Given the description of an element on the screen output the (x, y) to click on. 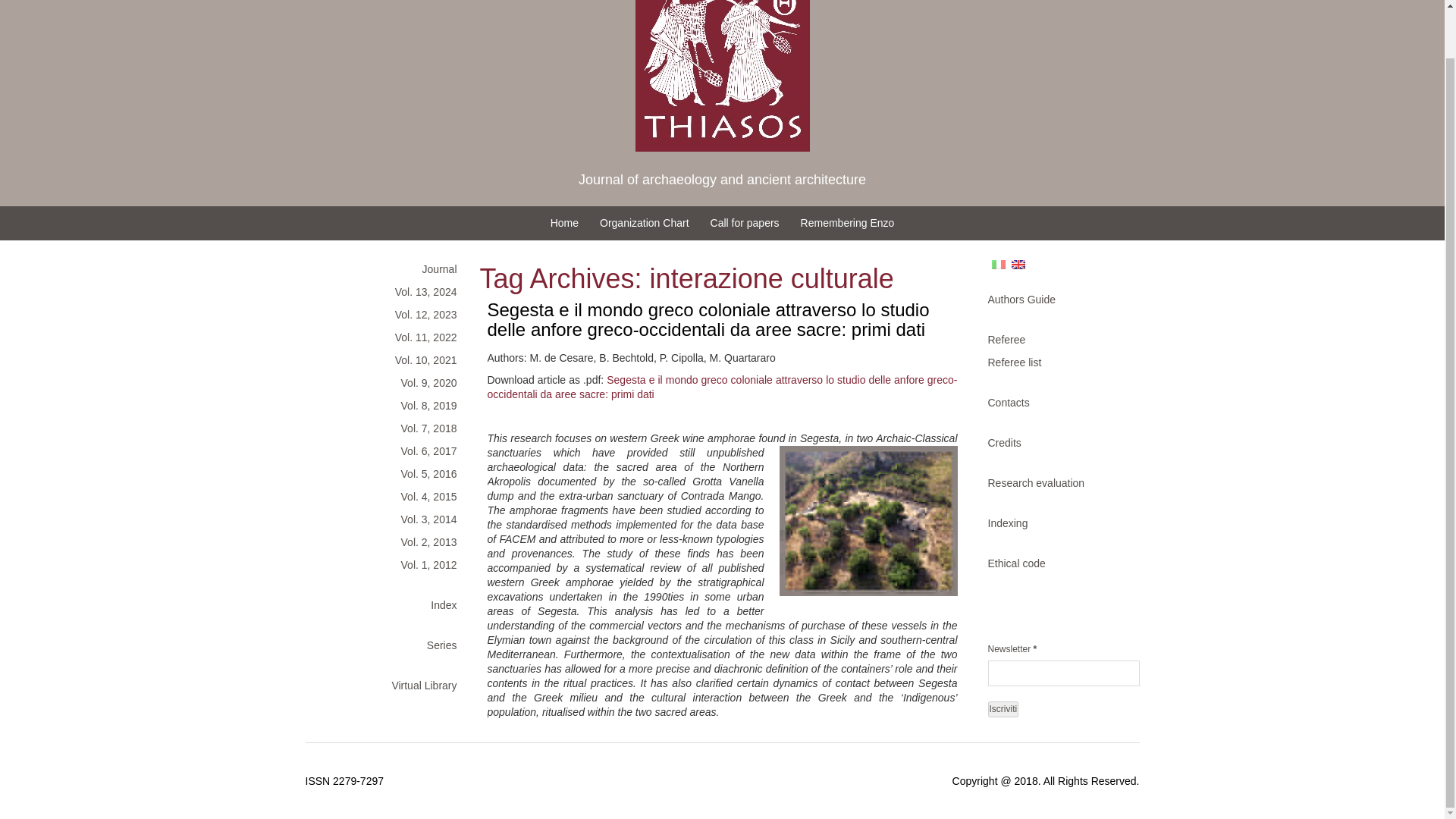
Journal (388, 268)
Vol. 2, 2013 (388, 541)
Research evaluation (1055, 482)
Vol. 11, 2022 (388, 336)
Referee list (1055, 362)
Index (388, 604)
Vol. 7, 2018 (388, 427)
Vol. 6, 2017 (388, 450)
Series (388, 644)
Remembering Enzo (847, 223)
Vol. 9, 2020 (388, 382)
Vol. 5, 2016 (388, 473)
Vol. 3, 2014 (388, 518)
